Given the description of an element on the screen output the (x, y) to click on. 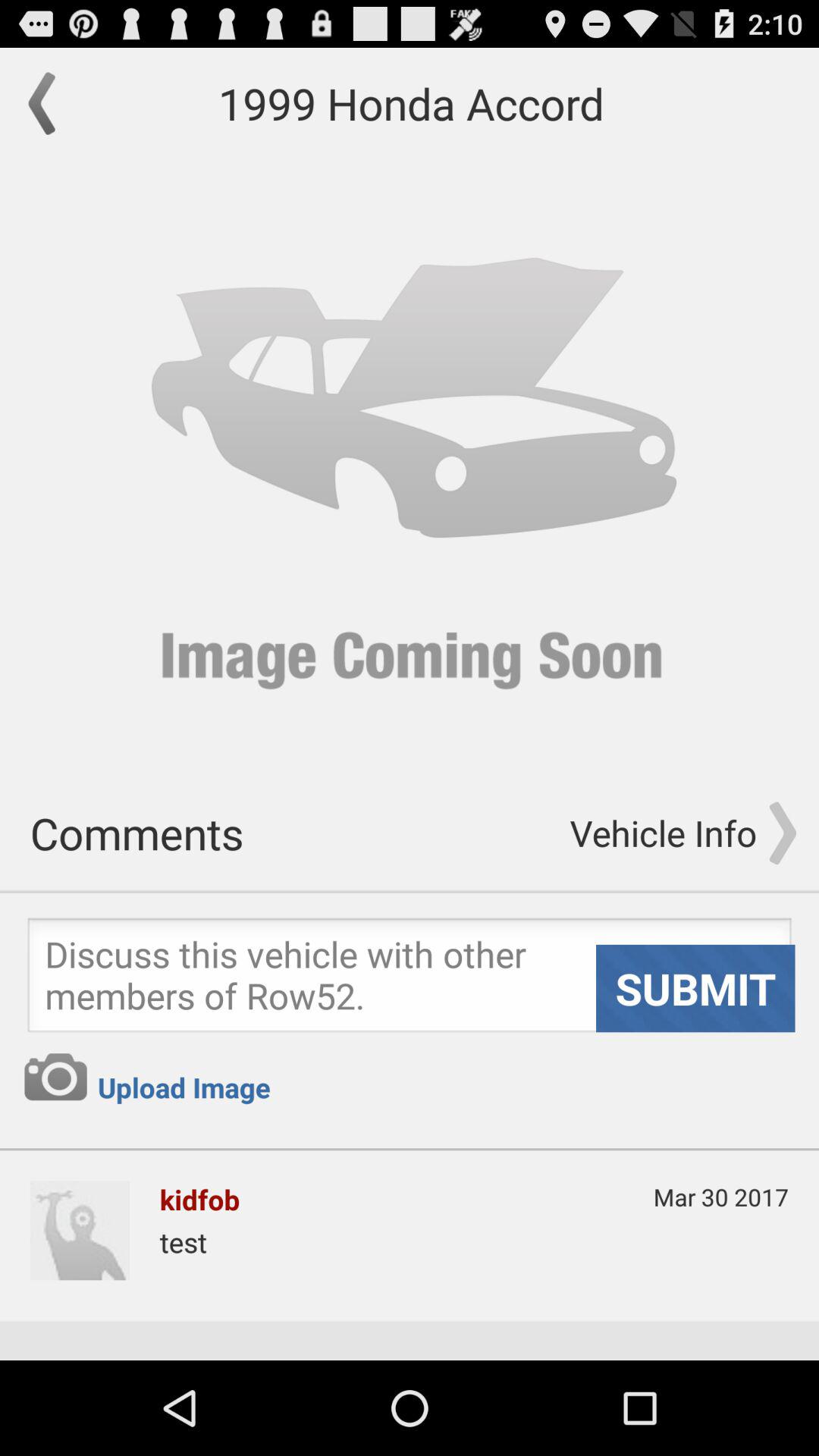
select icon at the top left corner (49, 103)
